Given the description of an element on the screen output the (x, y) to click on. 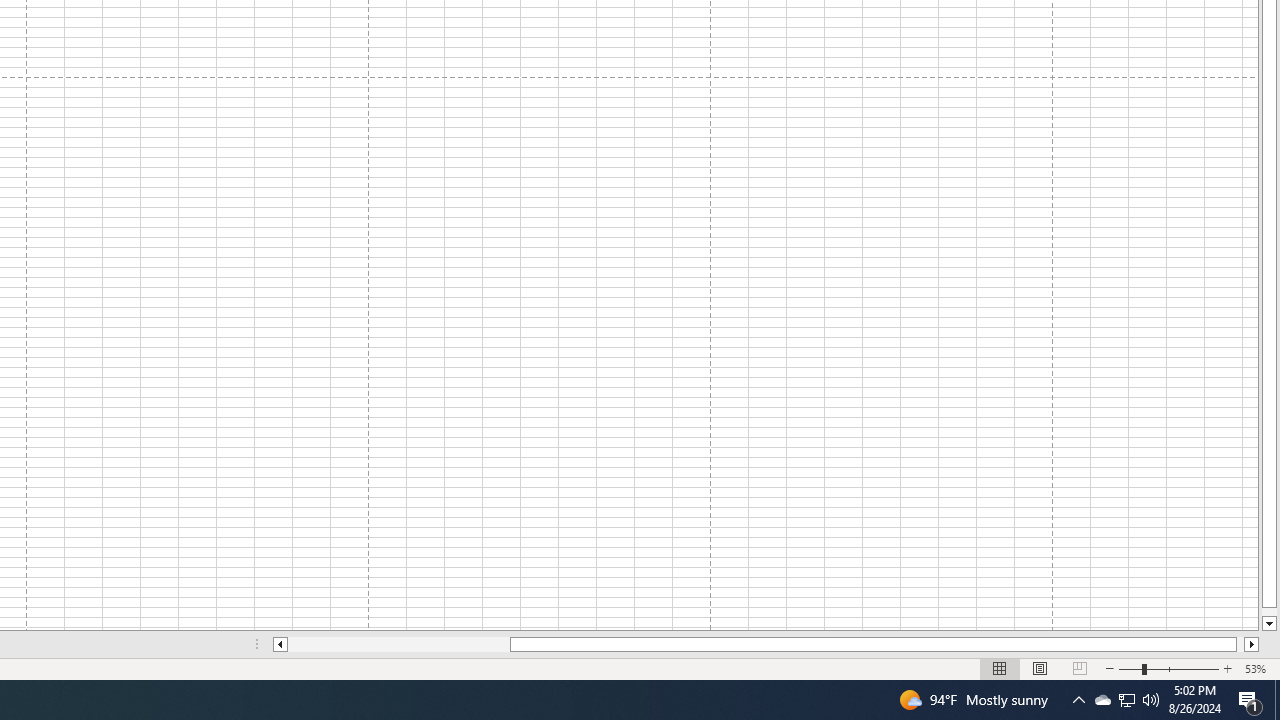
Page Break Preview (1079, 668)
Column right (1252, 644)
Class: NetUIScrollBar (765, 644)
Zoom In (1227, 668)
Page left (398, 644)
Column left (279, 644)
Zoom (1168, 668)
Normal (1000, 668)
Line down (1268, 624)
Page down (1268, 611)
Page right (1240, 644)
Zoom Out (1129, 668)
